Given the description of an element on the screen output the (x, y) to click on. 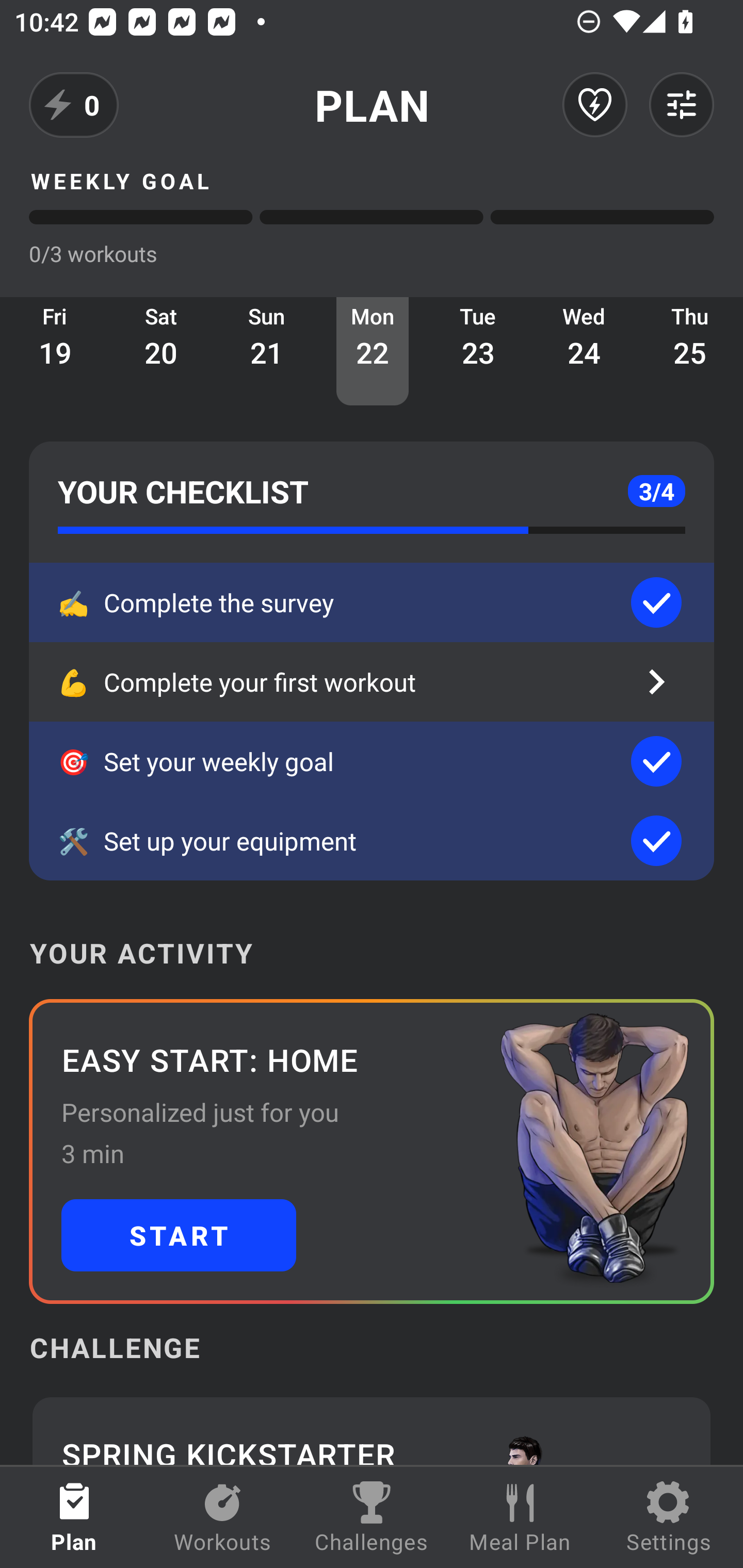
0 (73, 104)
Fri 19 (55, 351)
Sat 20 (160, 351)
Sun 21 (266, 351)
Mon 22 (372, 351)
Tue 23 (478, 351)
Wed 24 (584, 351)
Thu 25 (690, 351)
💪 Complete your first workout (371, 681)
START (178, 1235)
 Workouts  (222, 1517)
 Challenges  (371, 1517)
 Meal Plan  (519, 1517)
 Settings  (668, 1517)
